Given the description of an element on the screen output the (x, y) to click on. 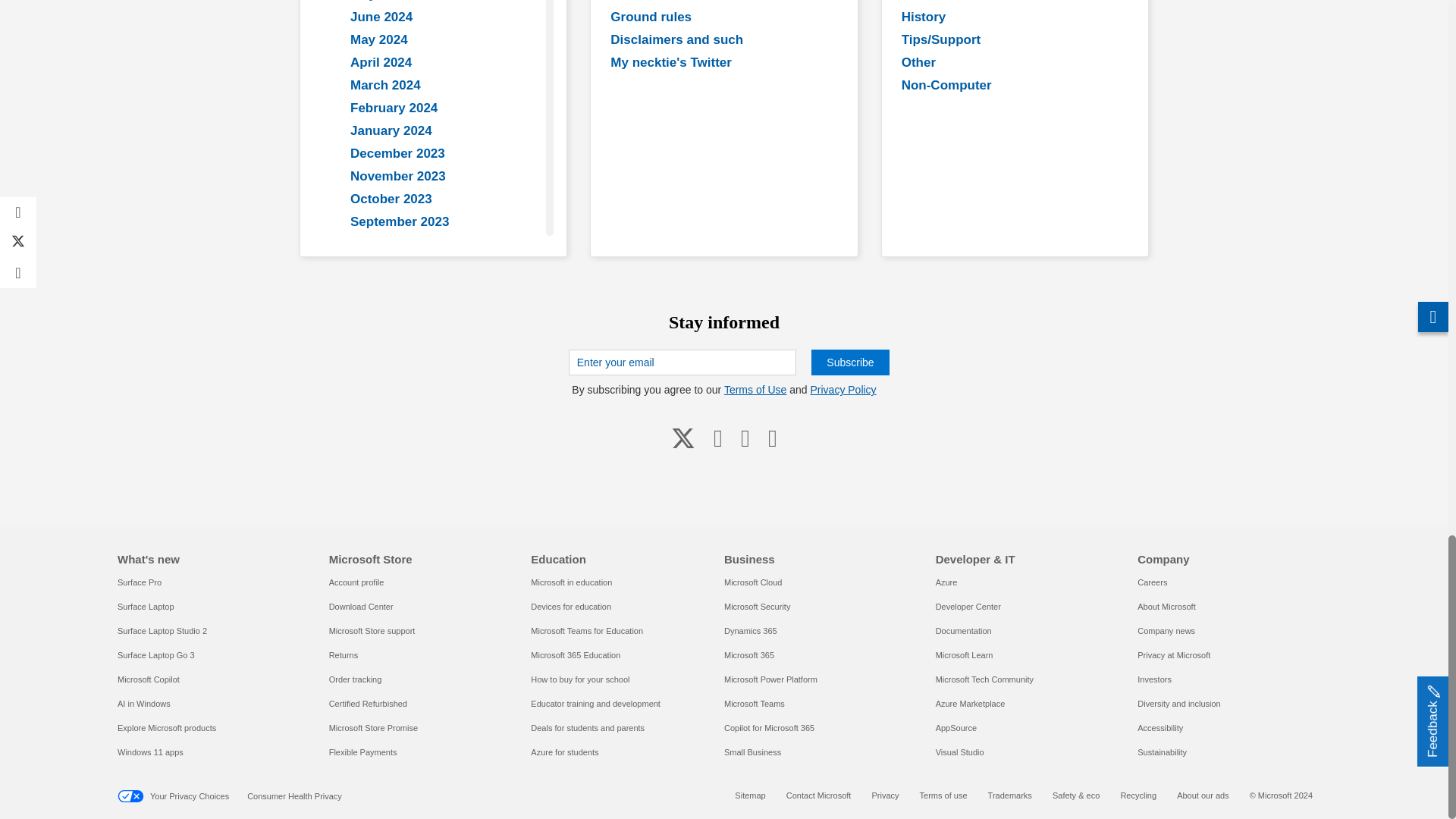
RSS Feed (772, 437)
GitHub (745, 437)
youtube (718, 437)
twitter (683, 437)
Subscribe (849, 362)
